Given the description of an element on the screen output the (x, y) to click on. 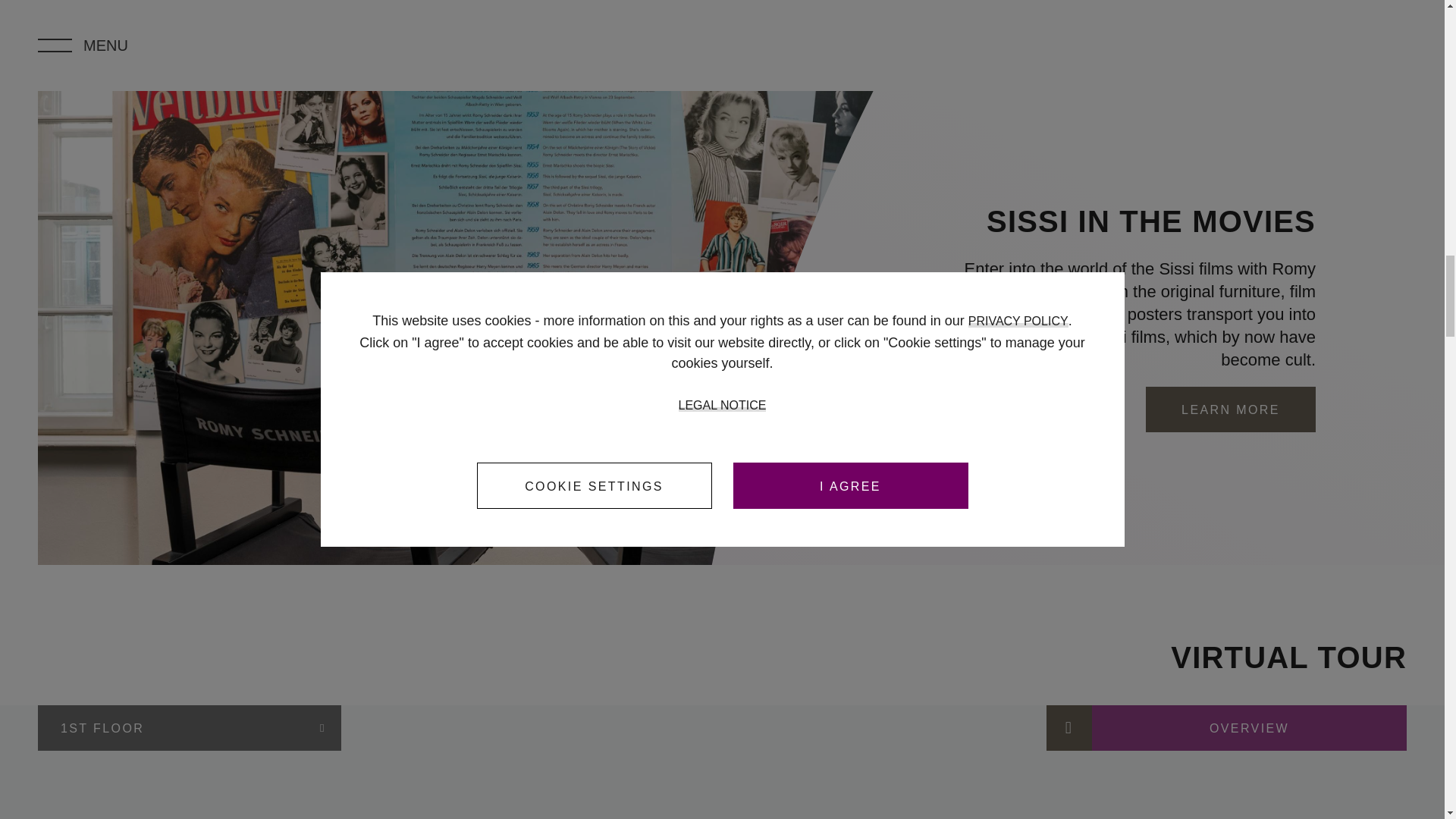
LEARN MORE (1230, 409)
1ST FLOOR (188, 728)
OVERVIEW (1226, 728)
